Given the description of an element on the screen output the (x, y) to click on. 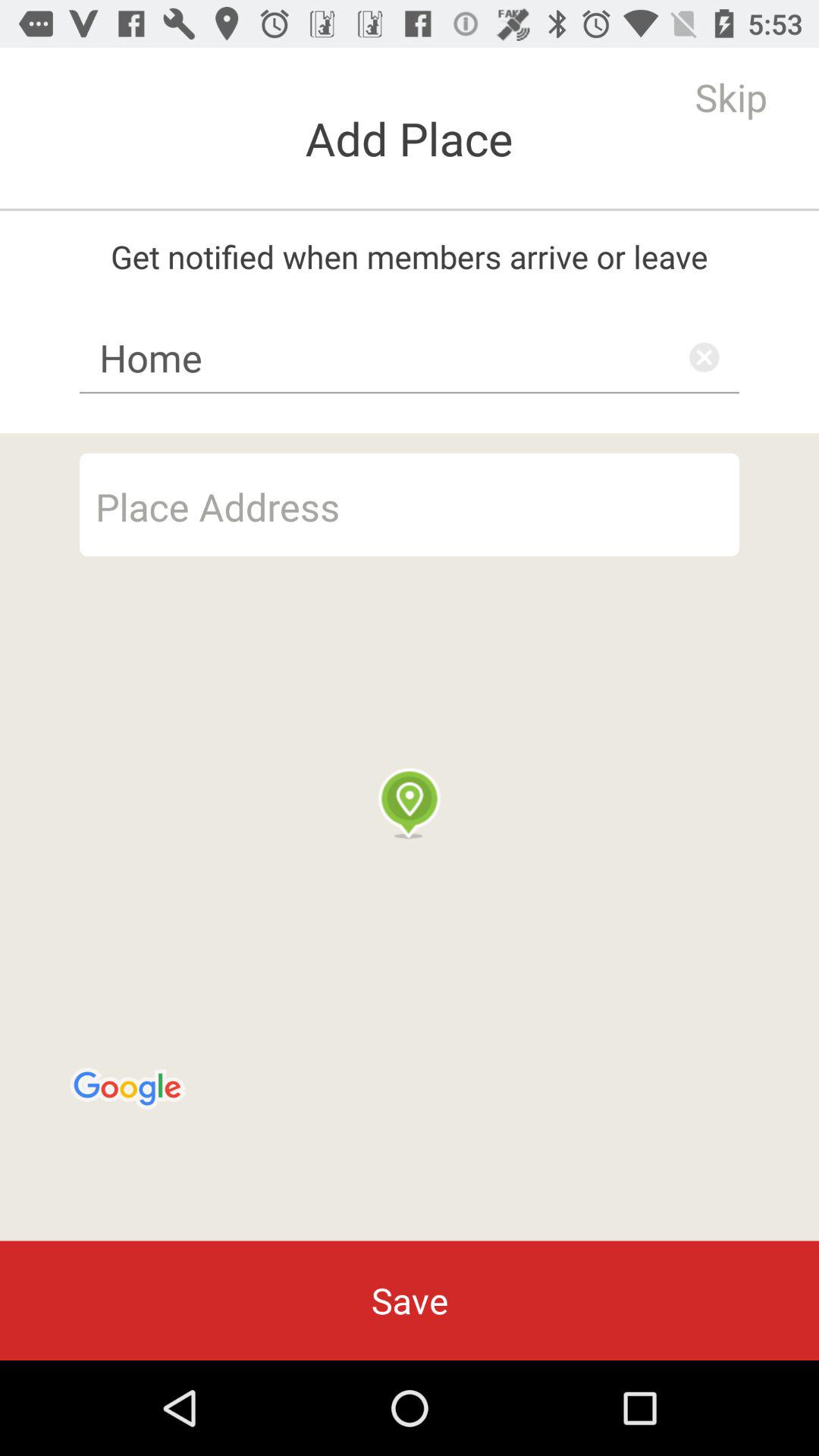
flip until home (409, 357)
